Given the description of an element on the screen output the (x, y) to click on. 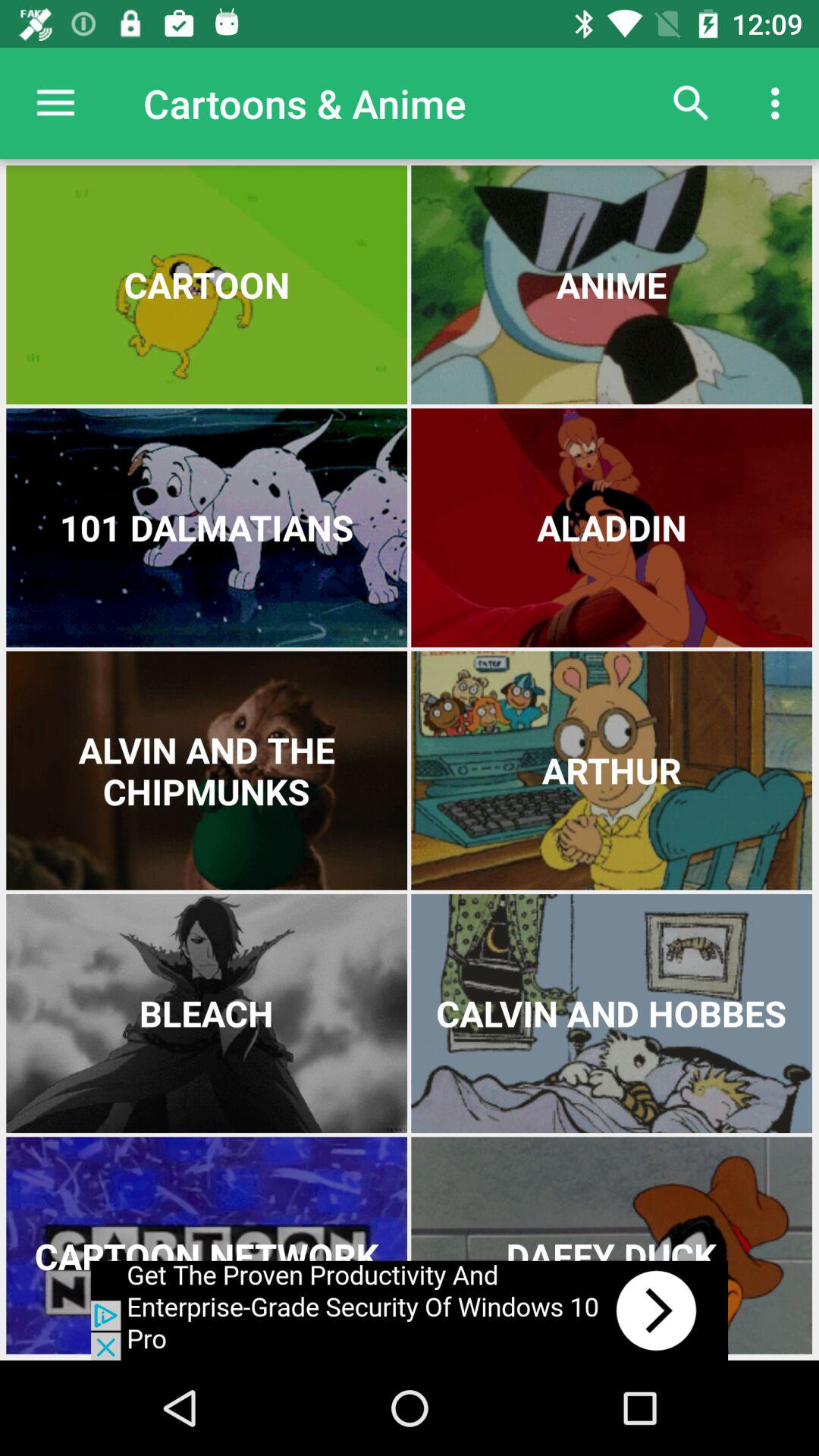
advertising (409, 1310)
